Given the description of an element on the screen output the (x, y) to click on. 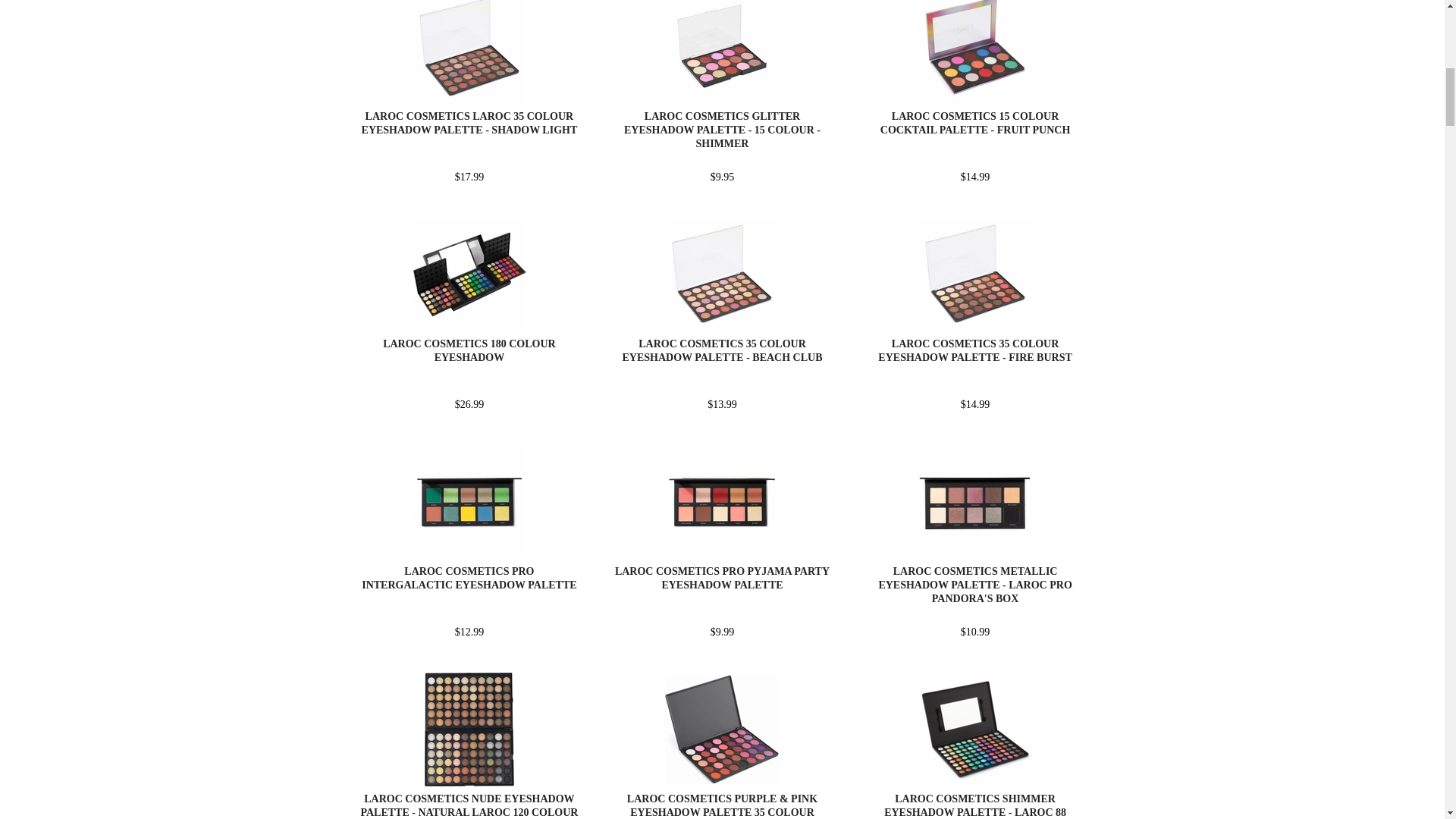
LaRoc Cosmetics 35 Colour Eyeshadow Palette - Fire Burst (974, 350)
LaRoc Cosmetics 15 Colour Cocktail Palette - Fruit Punch  (975, 122)
LaRoc Cosmetics Pro Pyjama Party Eyeshadow Palette (721, 577)
LaRoc Cosmetics Pro Intergalactic Eyeshadow Palette (468, 577)
LaRoc Cosmetics Shimmer Eyeshadow Palette - LaRoc 88 Colour (974, 806)
LaRoc Cosmetics 35 Colour Eyeshadow Palette - Beach Club (721, 350)
LaRoc Cosmetics 180 Colour Eyeshadow (469, 350)
